Given the description of an element on the screen output the (x, y) to click on. 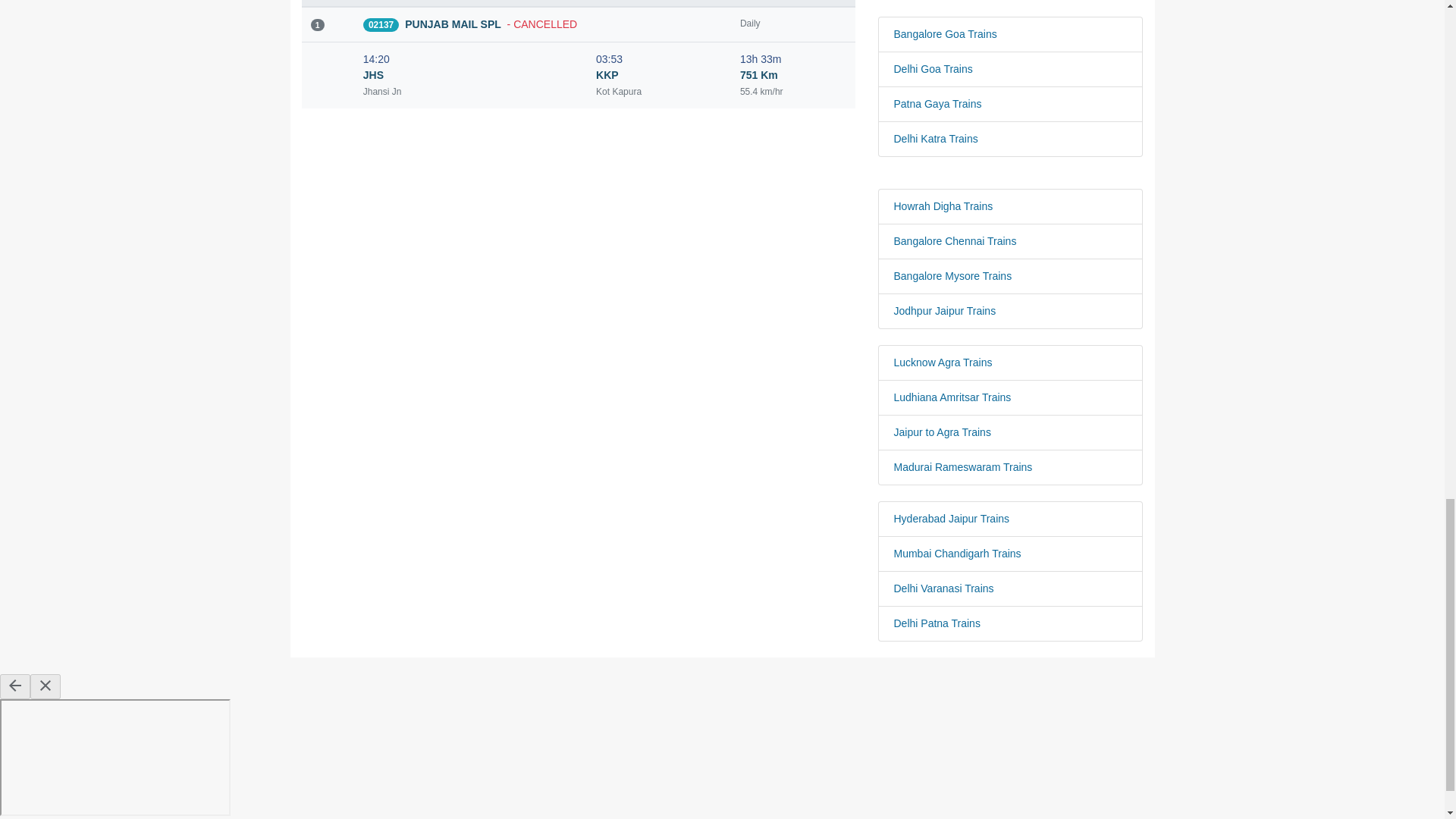
Patna Gaya Trains (1009, 104)
Delhi Goa Trains (1009, 68)
Delhi Katra Trains (1009, 139)
Bangalore Goa Trains (1009, 34)
